Given the description of an element on the screen output the (x, y) to click on. 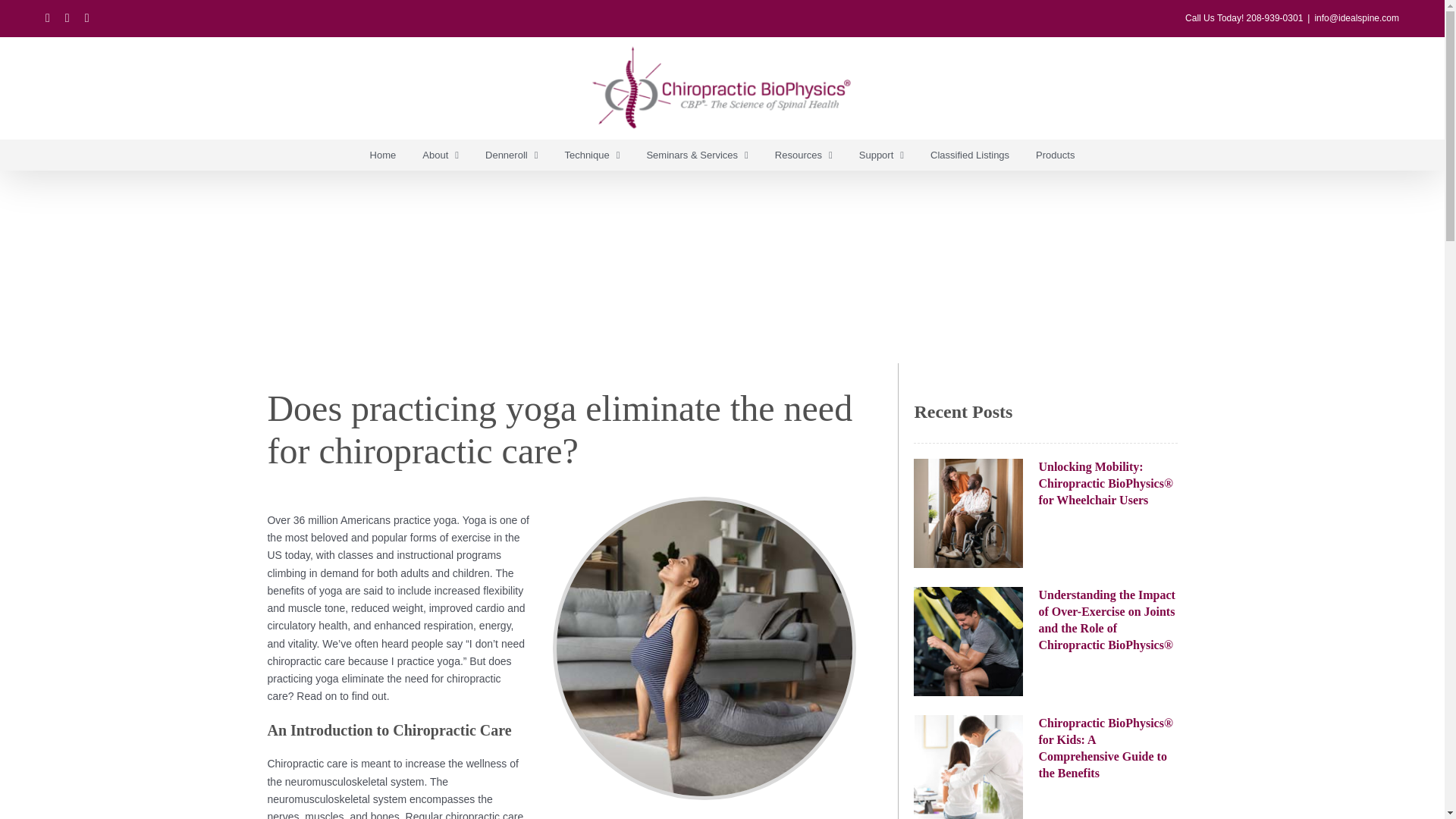
Denneroll (510, 154)
Technique (592, 154)
About (440, 154)
